Given the description of an element on the screen output the (x, y) to click on. 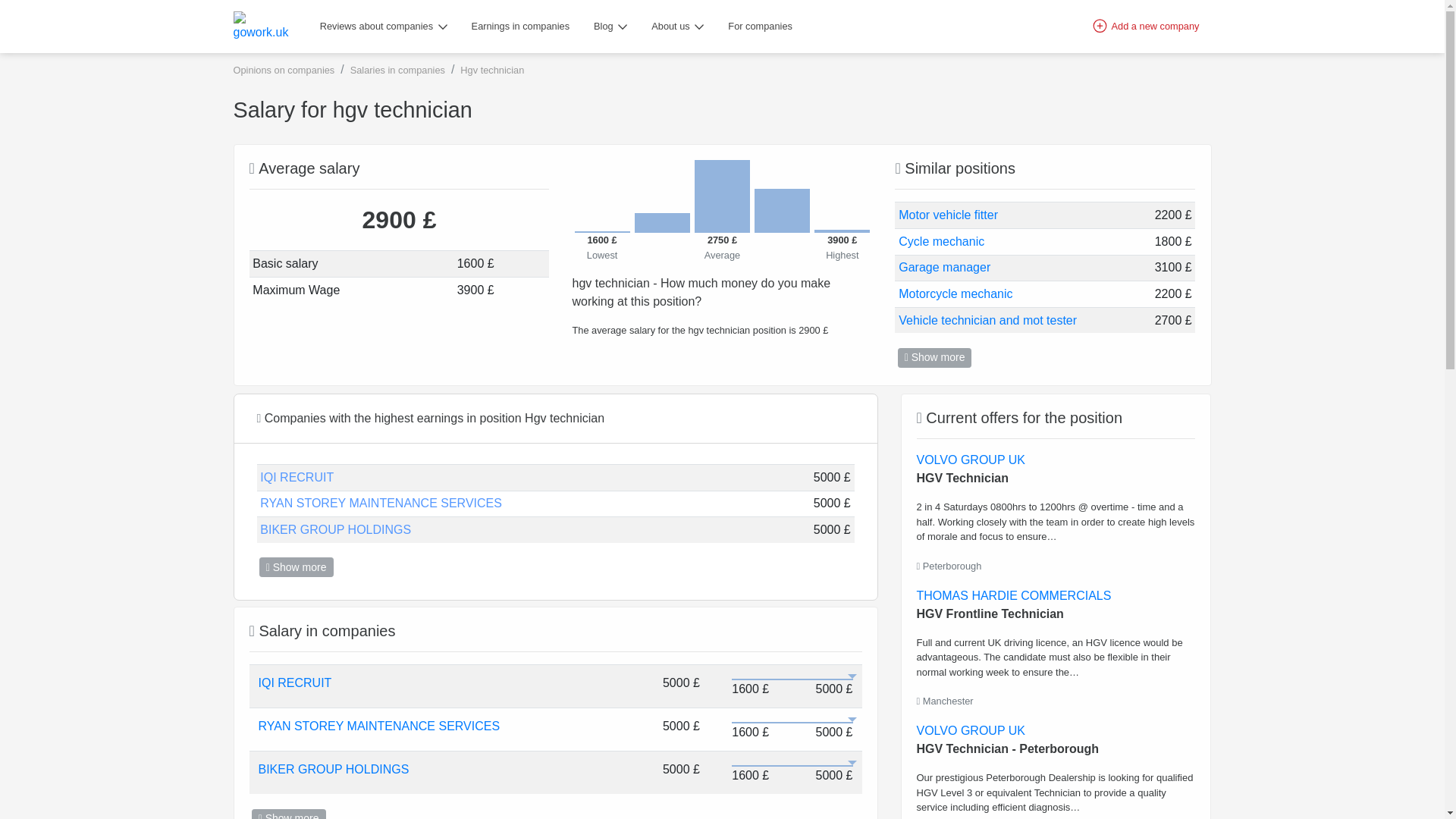
Blog (609, 26)
motor vehicle fitter (947, 215)
For companies (760, 26)
motorcycle mechanic (954, 294)
Opinions on companies (283, 70)
Hgv technician (492, 70)
About us (677, 26)
garage manager (944, 267)
Show more (935, 357)
vehicle technician and mot tester (987, 321)
